Given the description of an element on the screen output the (x, y) to click on. 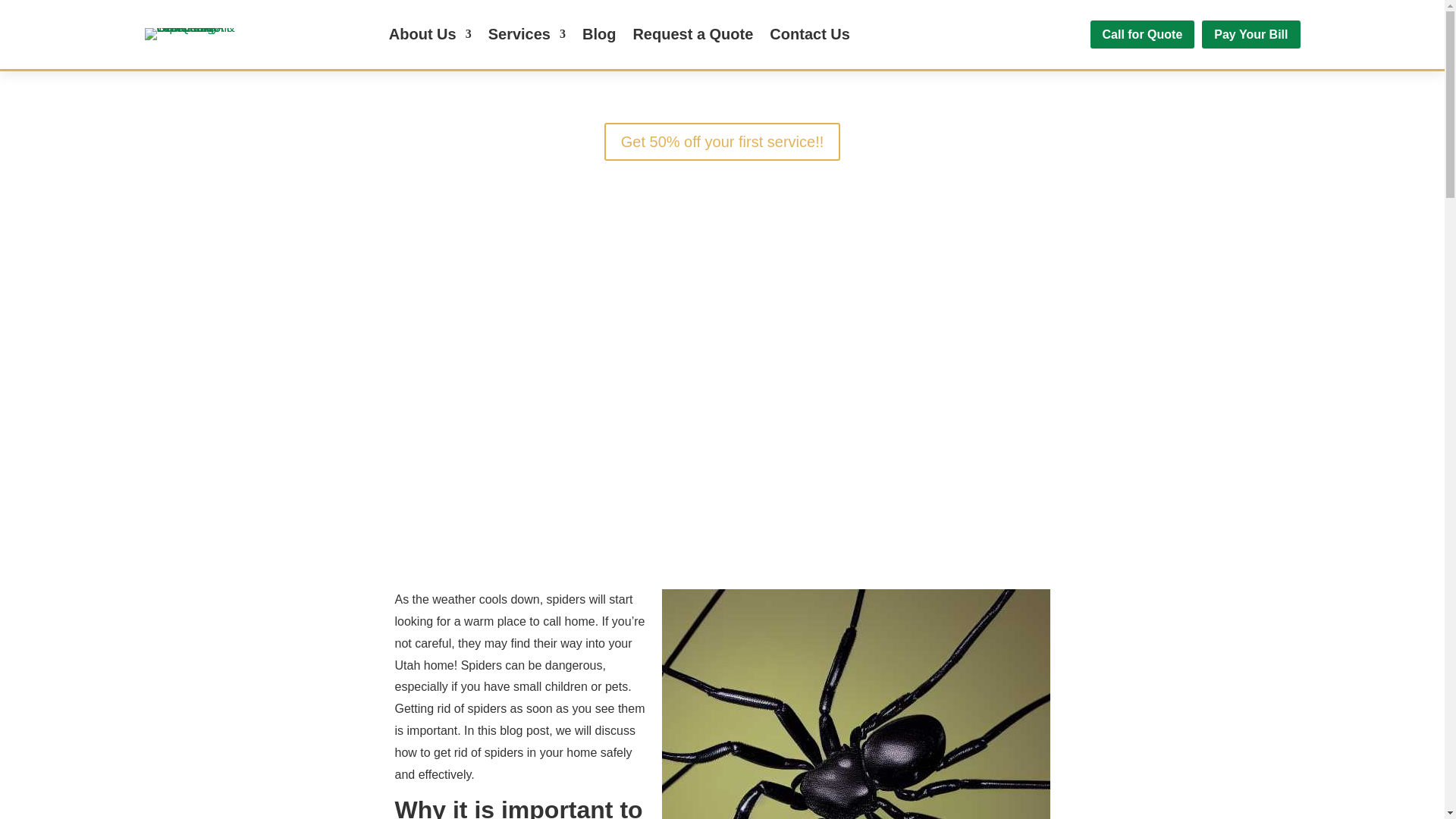
Pay Your Bill (1251, 34)
Request a Quote (691, 36)
Blog (598, 36)
All Green Logo (191, 33)
Services (526, 36)
Contact Us (810, 36)
About Us (429, 36)
Call for Quote (1142, 34)
